Given the description of an element on the screen output the (x, y) to click on. 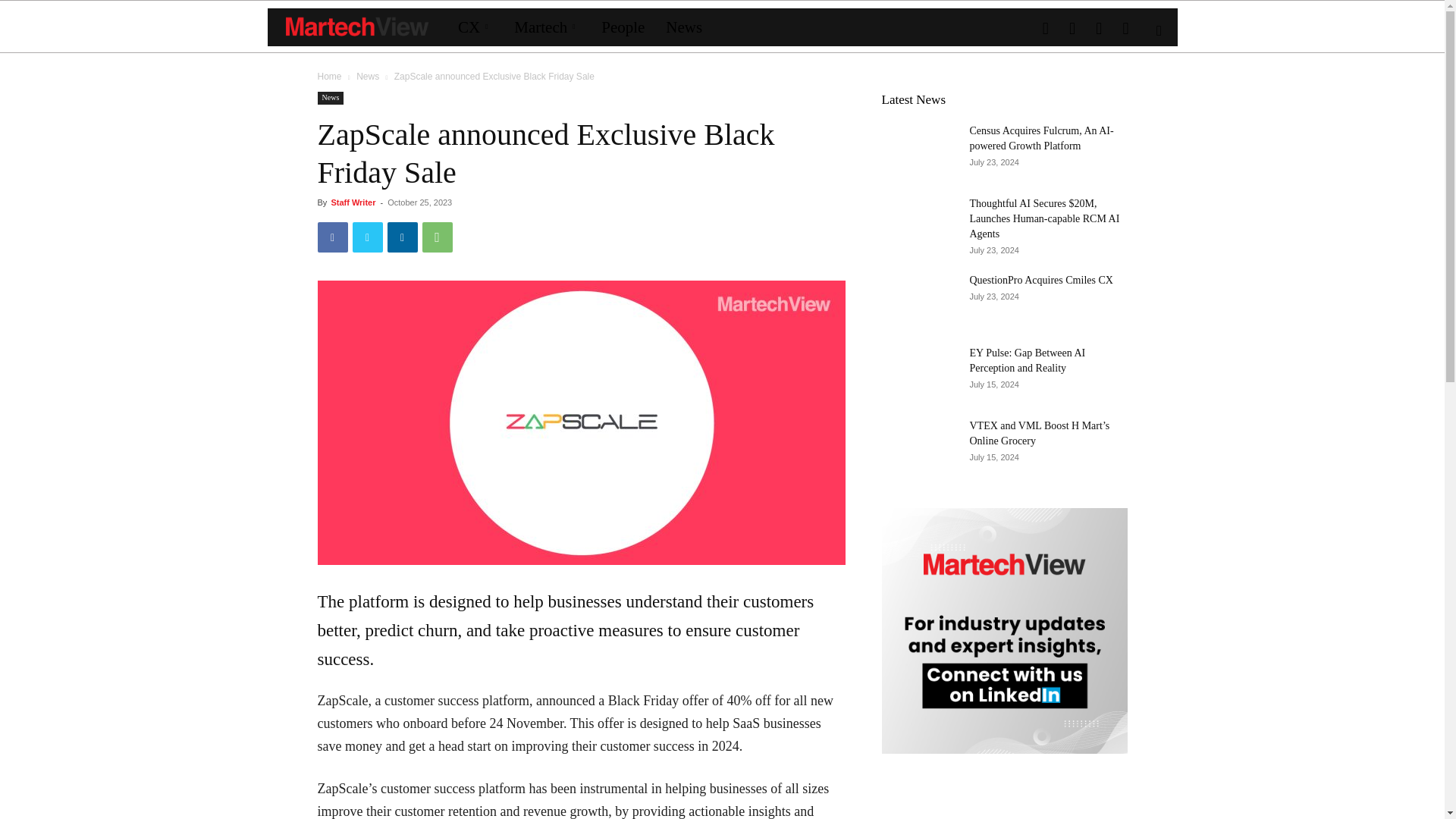
People (623, 26)
CX (474, 26)
News (684, 26)
Martech (547, 26)
Linkedin (401, 236)
View all posts in News (367, 76)
WhatsApp (436, 236)
Twitter (366, 236)
Facebook (332, 236)
MartechView (356, 27)
